Given the description of an element on the screen output the (x, y) to click on. 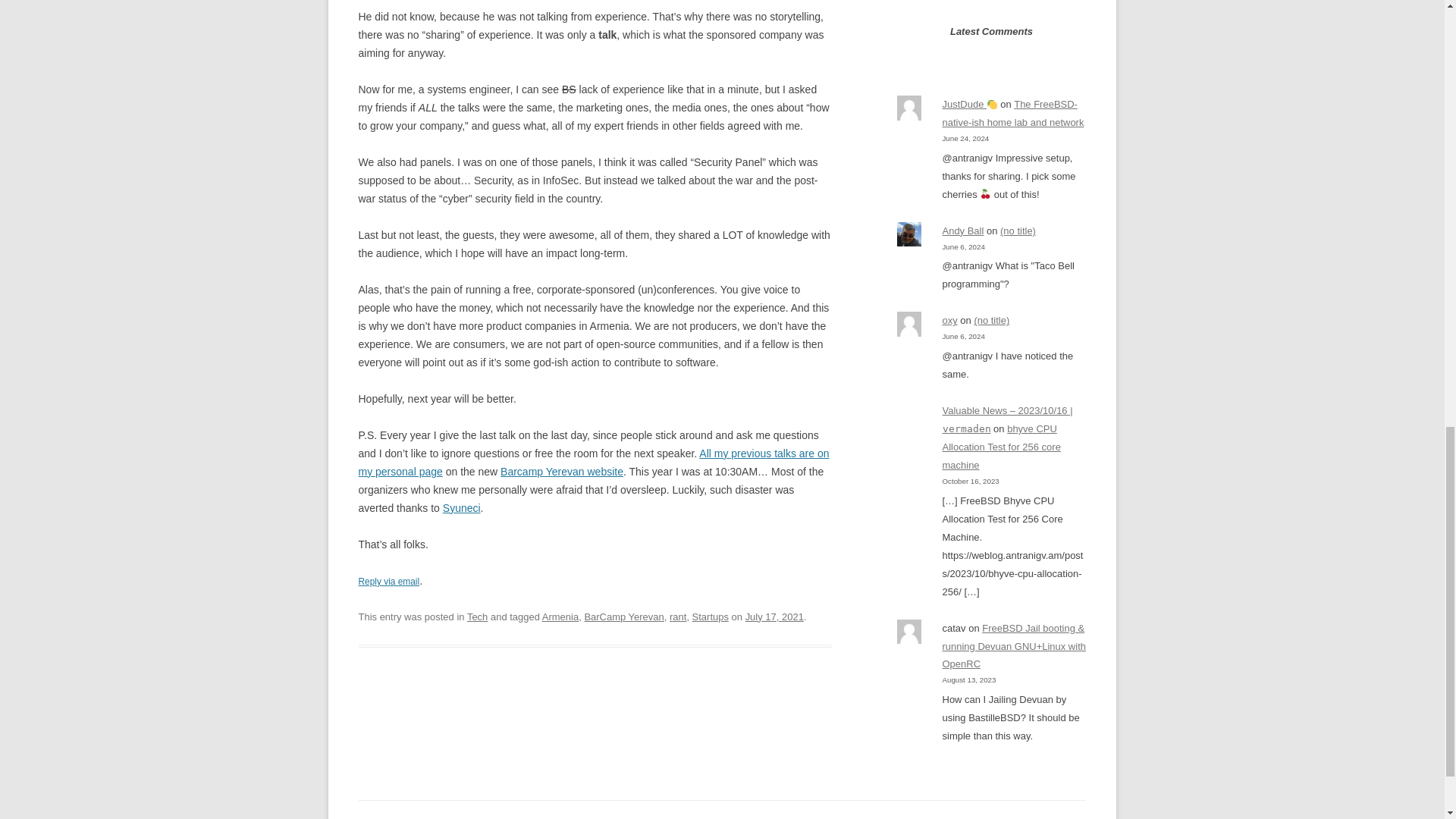
bhyve CPU Allocation Test for 256 core machine (1000, 446)
July 17, 2021 (774, 616)
All my previous talks are on my personal page (593, 462)
The FreeBSD-native-ish home lab and network (1012, 112)
Syuneci (461, 508)
JustDude (969, 103)
Armenia (559, 616)
Tech (477, 616)
8:58 PM (774, 616)
Andy Ball (963, 230)
Reply via email (388, 581)
rant (677, 616)
Startups (711, 616)
Barcamp Yerevan website (561, 471)
BarCamp Yerevan (623, 616)
